Given the description of an element on the screen output the (x, y) to click on. 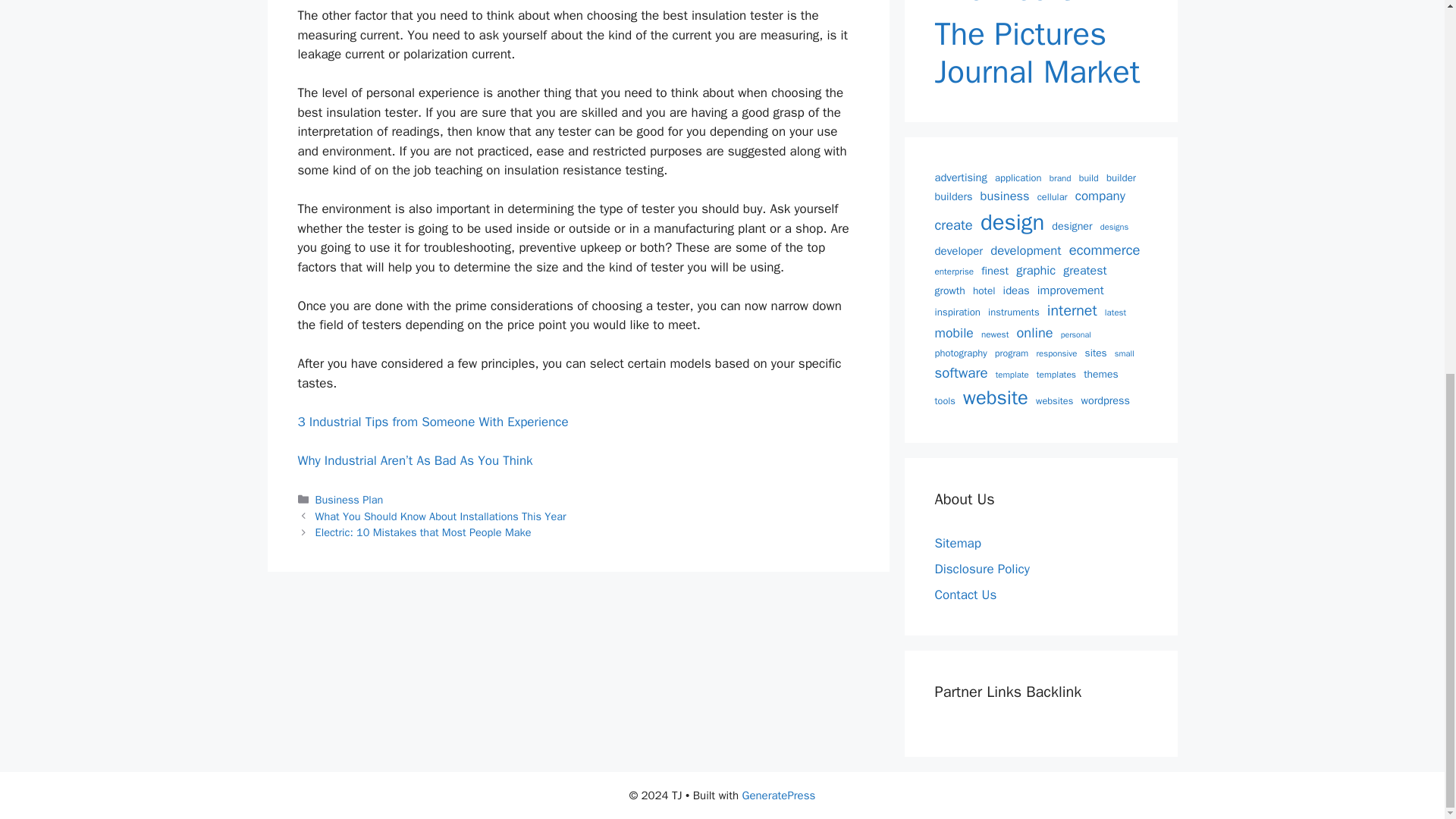
design (1011, 222)
Electric: 10 Mistakes that Most People Make (423, 531)
cellular (1051, 197)
development (1025, 250)
graphic (1035, 270)
brand (1060, 178)
ecommerce (1104, 250)
3 Industrial Tips from Someone With Experience (432, 421)
business (1004, 196)
The Pictures Journal Market (1040, 53)
What You Should Know About Installations This Year (440, 516)
designer (1071, 226)
application (1018, 178)
enterprise (954, 272)
designs (1114, 226)
